Given the description of an element on the screen output the (x, y) to click on. 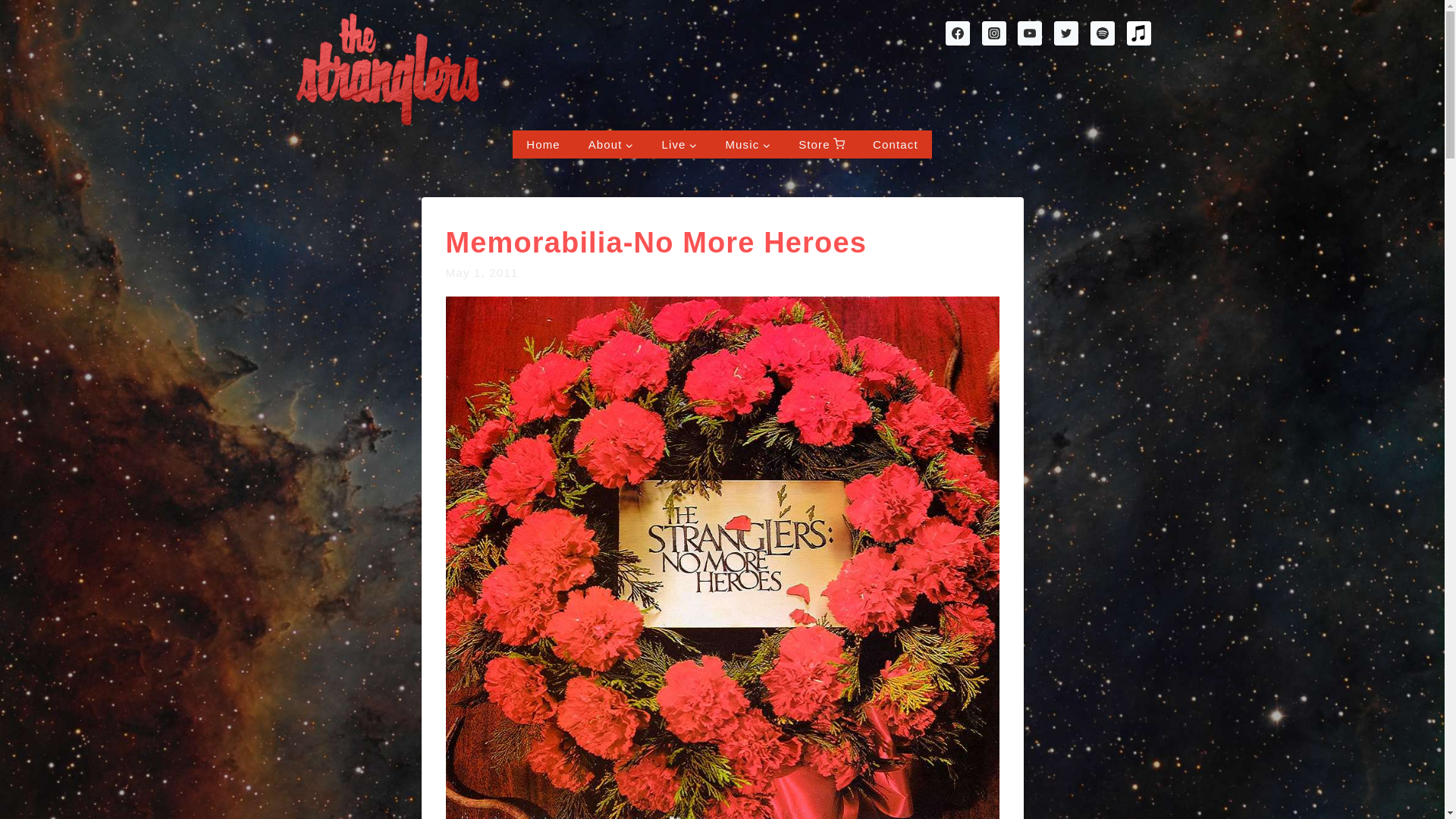
Store (821, 144)
Home (542, 144)
About (610, 144)
Music (747, 144)
Contact (896, 144)
Live (679, 144)
